Given the description of an element on the screen output the (x, y) to click on. 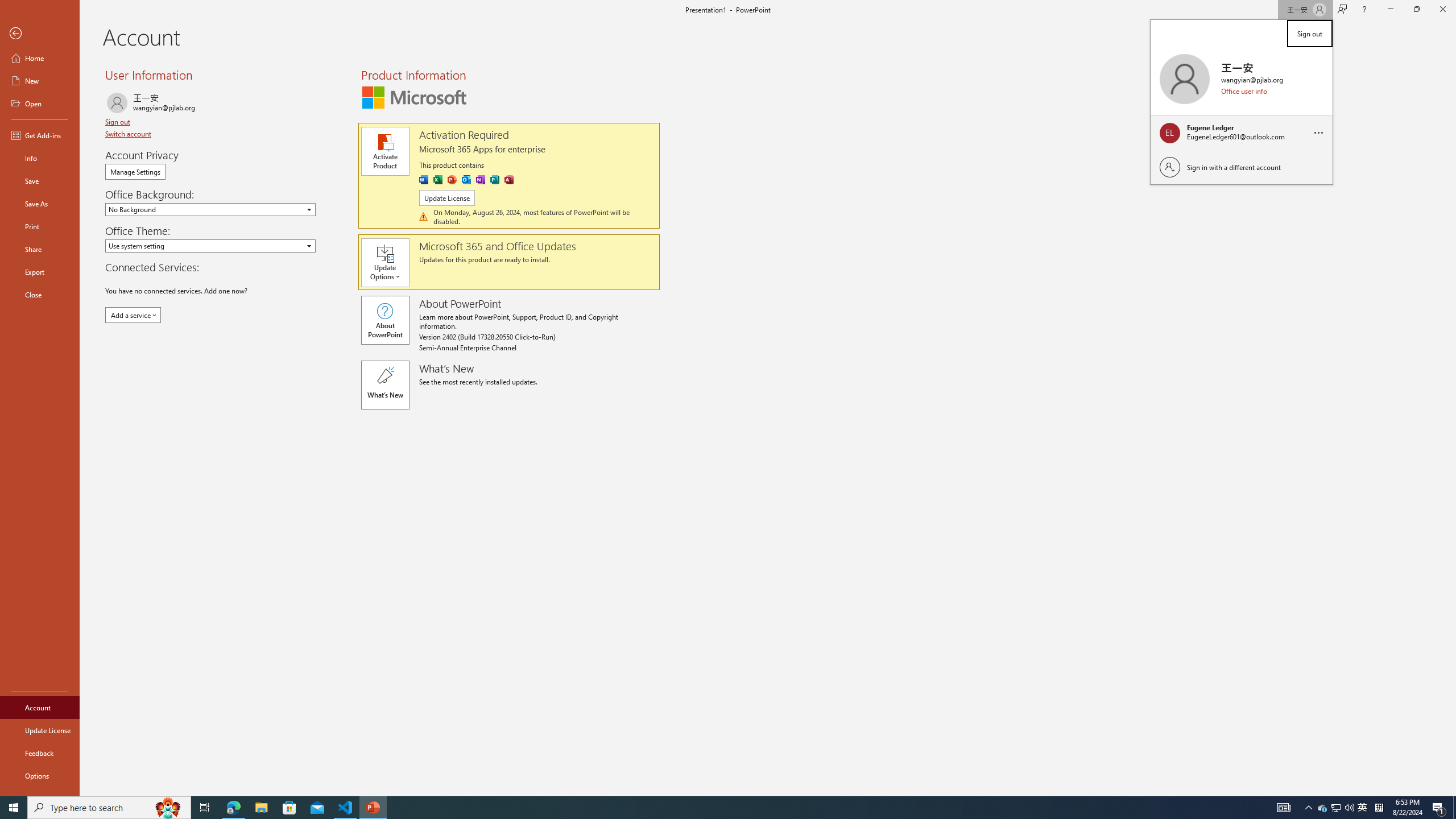
Manage Settings (134, 171)
Word (423, 179)
Sign out (118, 121)
Office Background (209, 209)
Export (40, 271)
OneNote (480, 179)
